Given the description of an element on the screen output the (x, y) to click on. 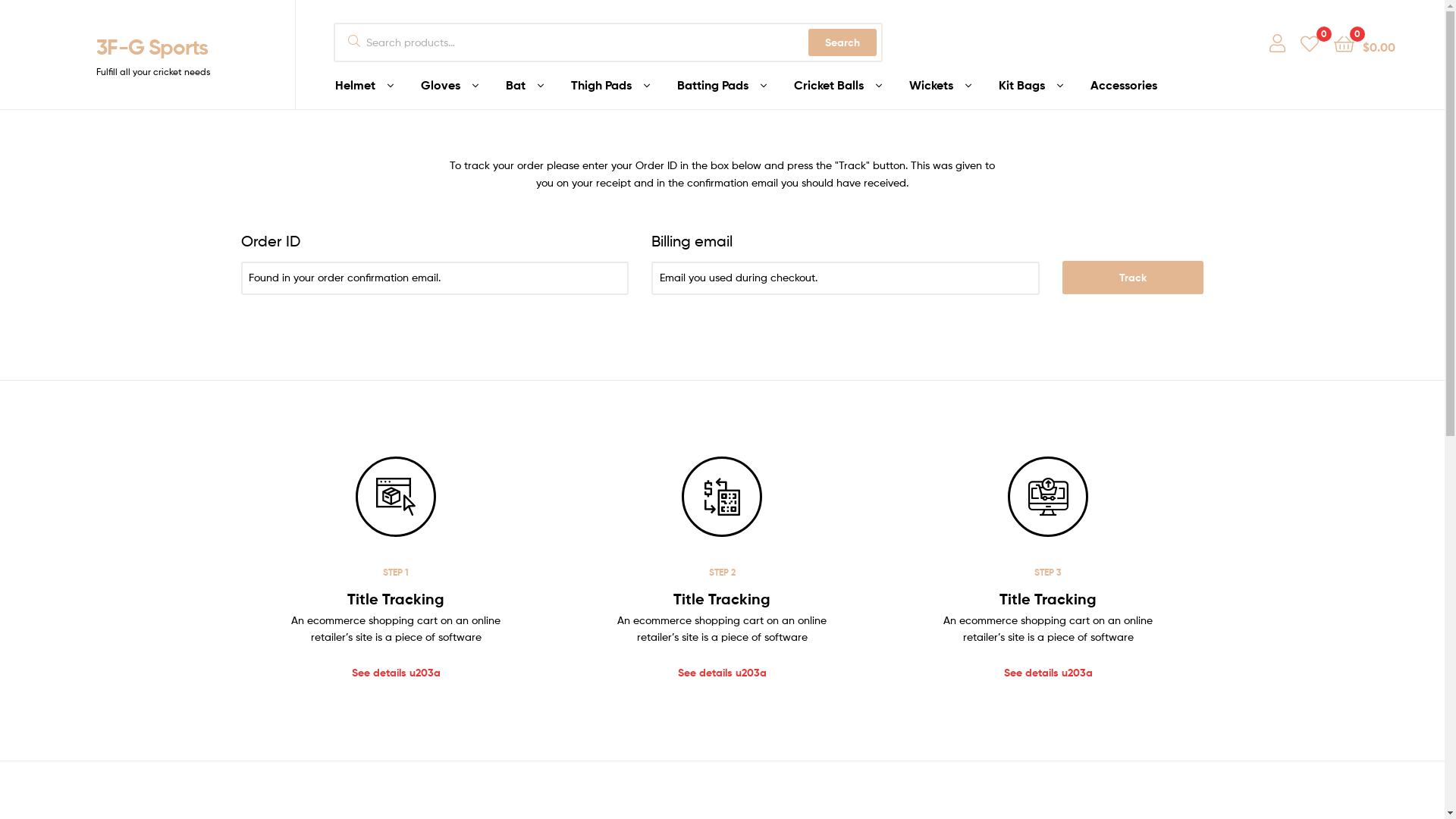
Search Element type: text (842, 42)
See details u203a Element type: text (1047, 672)
See details u203a Element type: text (395, 672)
Accessories Element type: text (1123, 85)
0
$0.00 Element type: text (1364, 42)
Kit Bags Element type: text (1030, 85)
Bat Element type: text (524, 85)
Batting Pads Element type: text (721, 85)
Helmet Element type: text (364, 85)
Track Element type: text (1133, 277)
Thigh Pads Element type: text (610, 85)
Gloves Element type: text (449, 85)
Cricket Balls Element type: text (837, 85)
0 Element type: text (1309, 42)
See details u203a Element type: text (721, 672)
Wickets Element type: text (940, 85)
3F-G Sports Element type: text (151, 46)
